Given the description of an element on the screen output the (x, y) to click on. 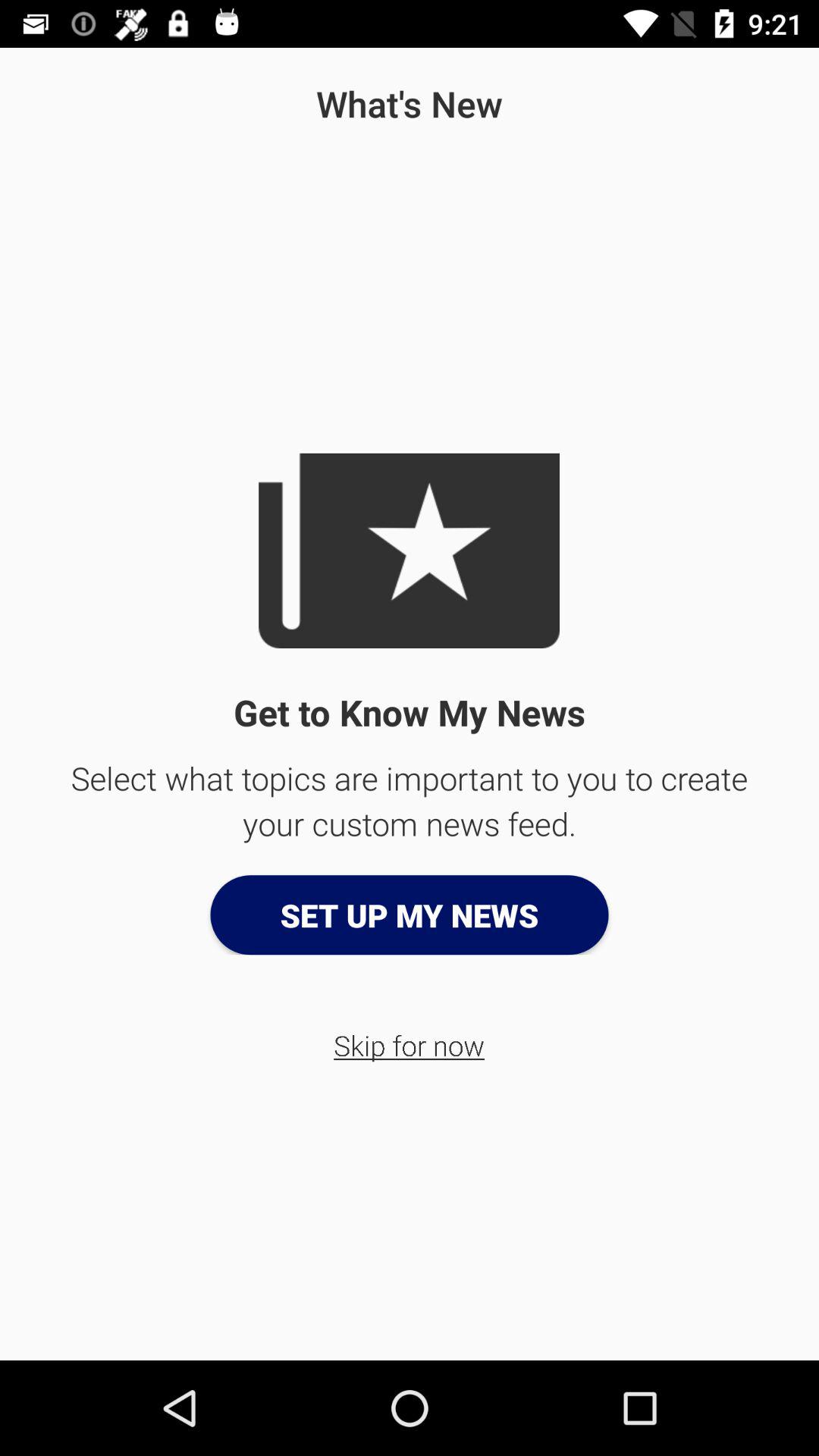
scroll until the skip for now icon (409, 1044)
